Given the description of an element on the screen output the (x, y) to click on. 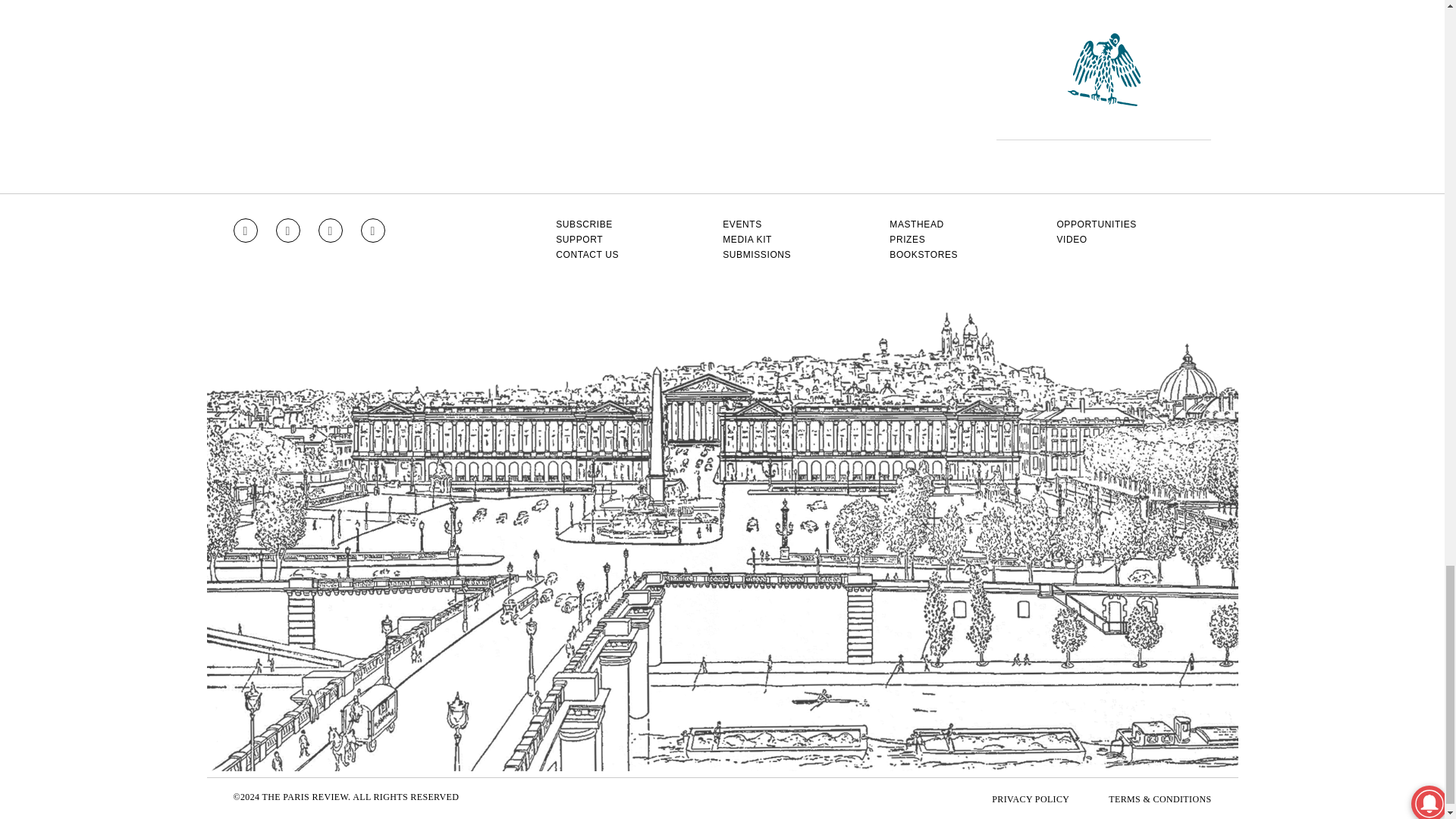
Go to Facebook page (287, 230)
Go to RSS feed (373, 230)
Go to Twitter feed (330, 230)
Go to Instagram feed (244, 230)
